Given the description of an element on the screen output the (x, y) to click on. 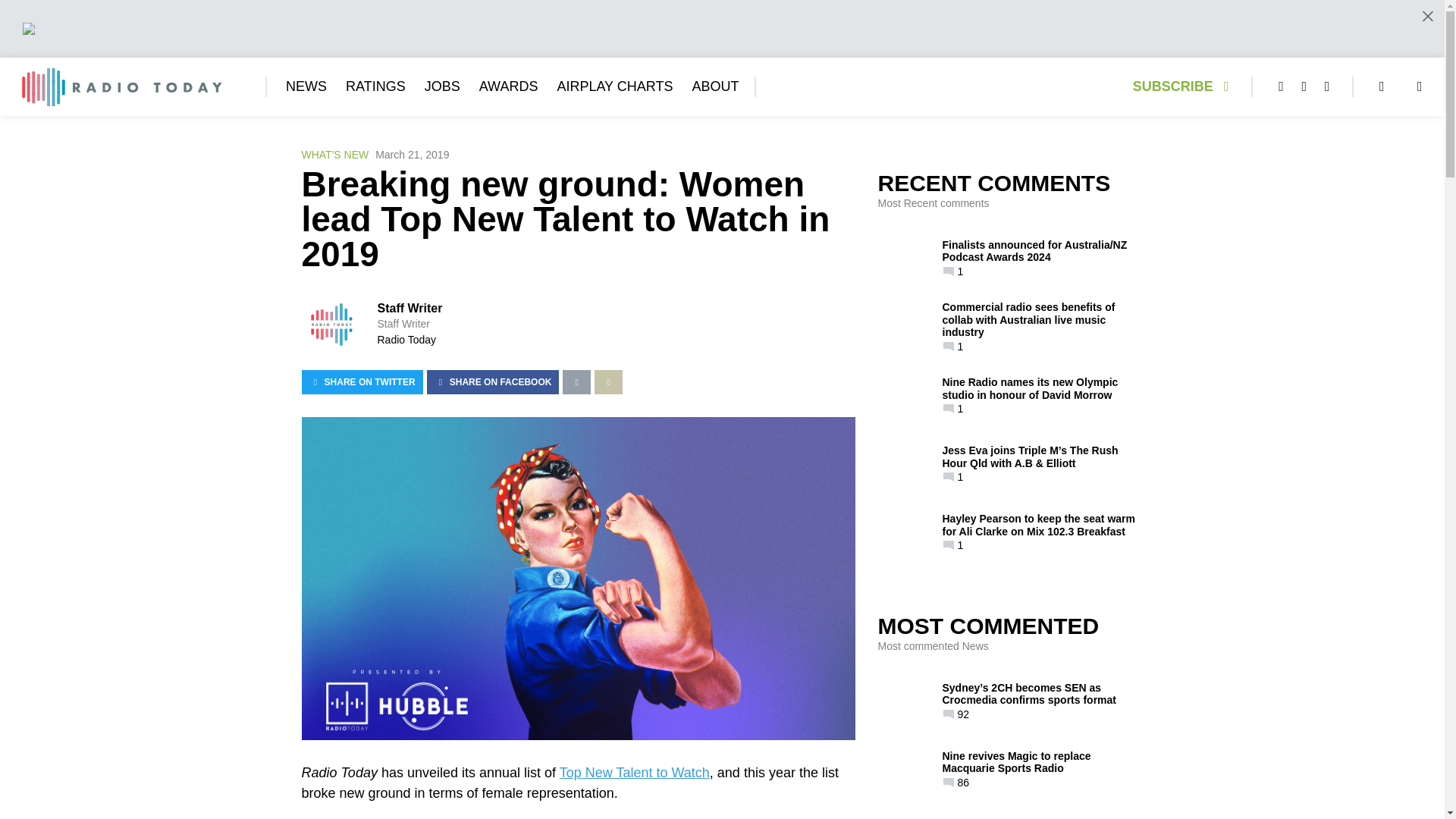
WHAT'S NEW (335, 154)
NEWS (305, 86)
RATINGS (376, 86)
Staff Writer (409, 308)
SHARE ON FACEBOOK (492, 381)
Close (1427, 16)
SUBSCRIBE (1184, 86)
AIRPLAY CHARTS (614, 86)
JOBS (442, 86)
Radio Today (406, 339)
AWARDS (508, 86)
ABOUT (714, 86)
SHARE ON TWITTER (362, 381)
